Given the description of an element on the screen output the (x, y) to click on. 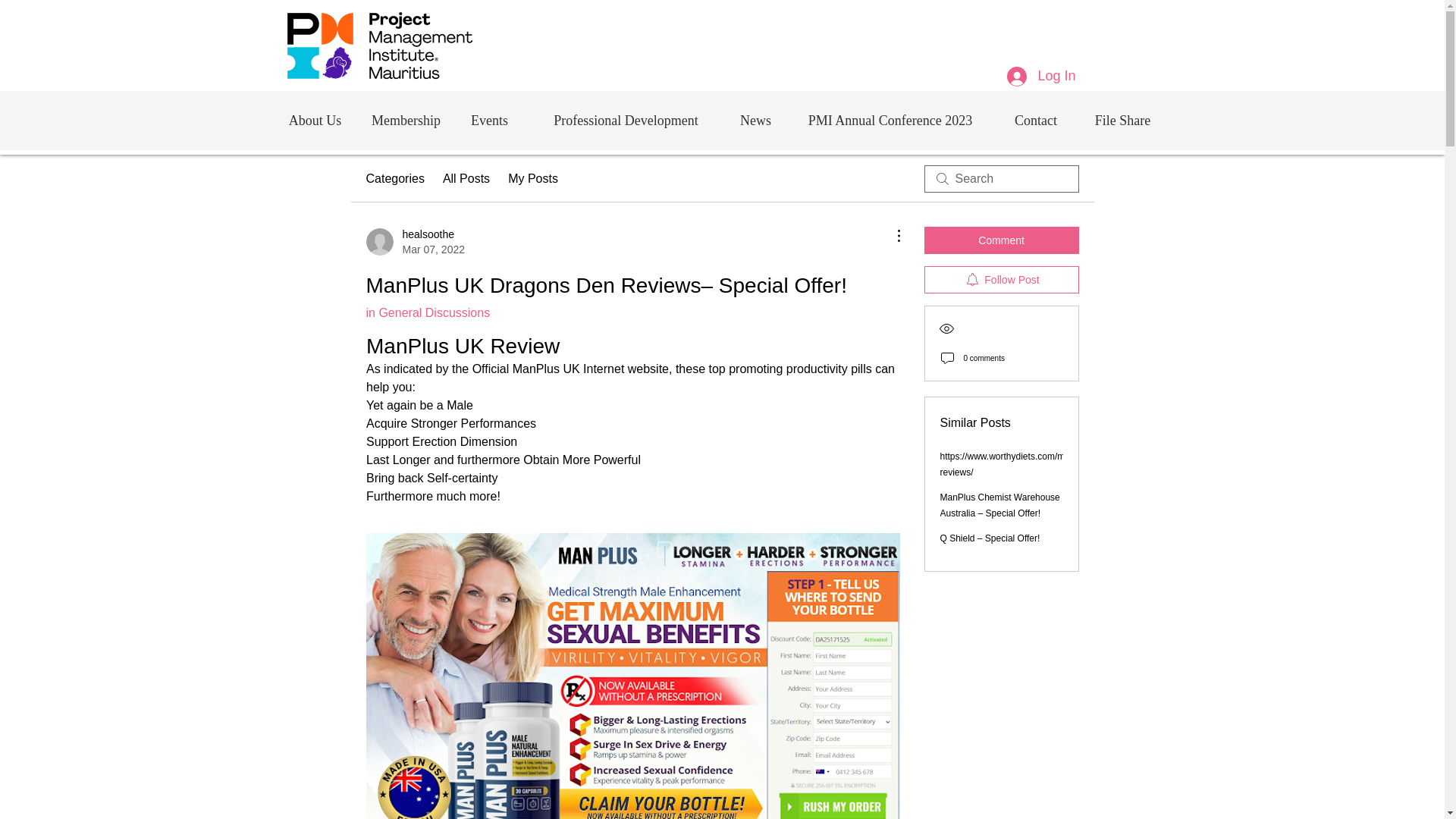
All Posts (465, 178)
My Posts (532, 178)
News (754, 119)
PMI Annual Conference 2023 (889, 119)
About Us (314, 119)
in General Discussions (427, 312)
Contact (1035, 119)
Log In (1040, 76)
Events (488, 119)
Categories (394, 178)
File Share (1122, 119)
Membership (405, 119)
Professional Development (414, 241)
